Given the description of an element on the screen output the (x, y) to click on. 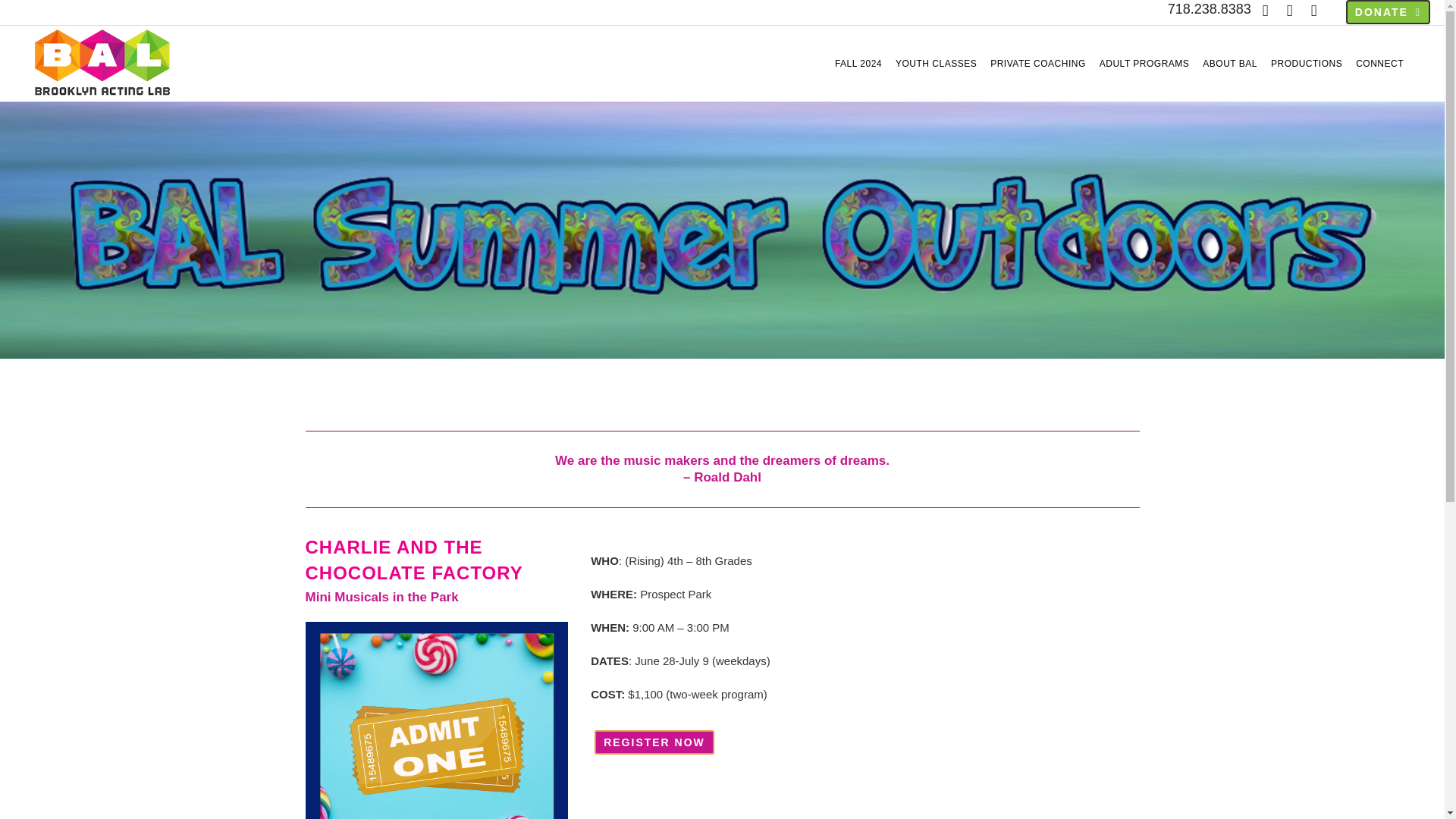
YOUTH CLASSES (936, 63)
ADULT PROGRAMS (1144, 63)
DONATE (1387, 12)
PRODUCTIONS (1306, 63)
PRIVATE COACHING (1038, 63)
ABOUT BAL (1229, 63)
